Given the description of an element on the screen output the (x, y) to click on. 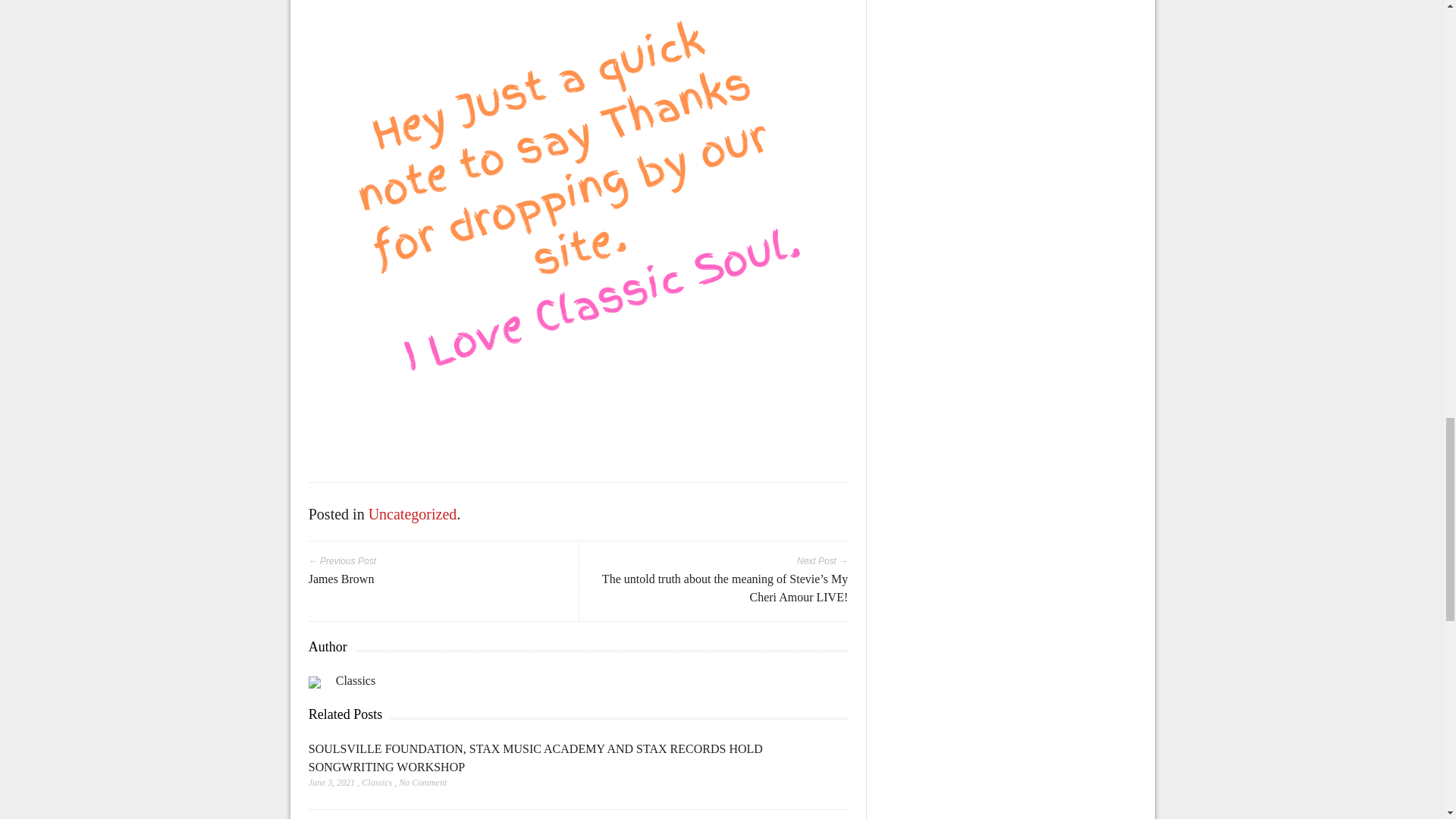
Posts by Classics (376, 782)
Posts by Classics (355, 680)
Uncategorized (412, 514)
No Comment (422, 782)
Classics (376, 782)
Classics (355, 680)
